Given the description of an element on the screen output the (x, y) to click on. 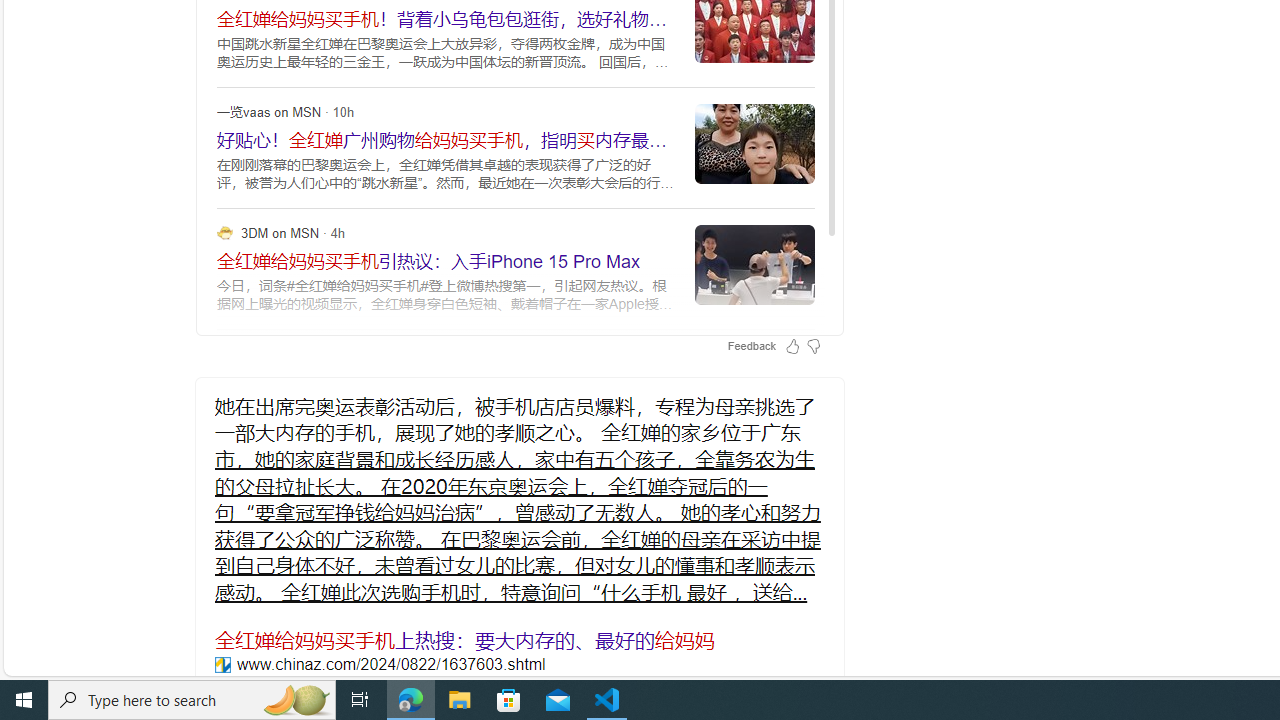
3DM on MSN (224, 232)
www.chinaz.com/2024/0822/1637603.shtml (222, 664)
Feedback Dislike (813, 345)
Feedback Like (792, 345)
